Given the description of an element on the screen output the (x, y) to click on. 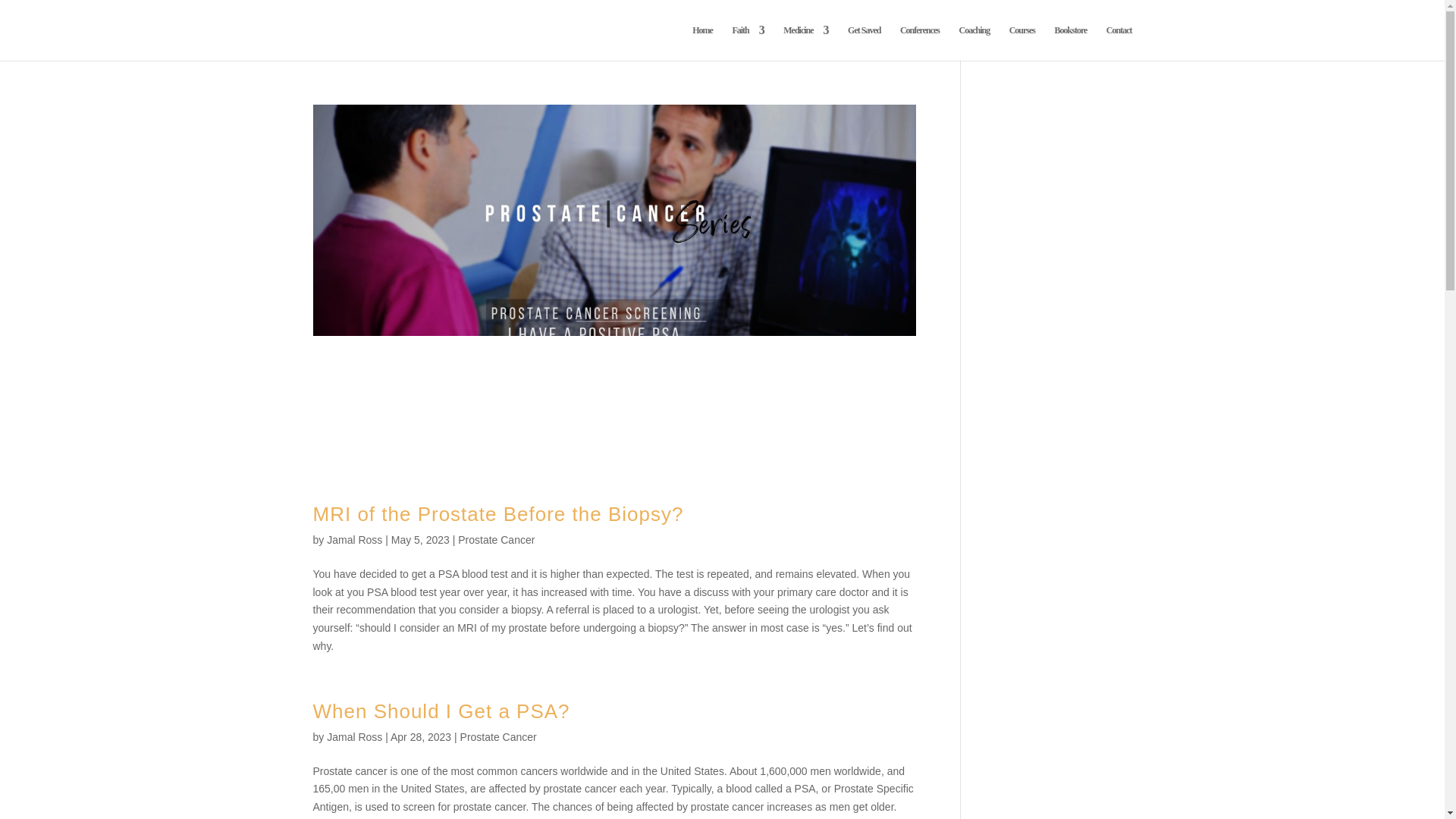
Faith (747, 42)
Posts by Jamal Ross (353, 539)
Jamal Ross (353, 539)
Jamal Ross (353, 736)
Posts by Jamal Ross (353, 736)
When Should I Get a PSA? (441, 711)
Prostate Cancer (498, 736)
Bookstore (1070, 42)
Conferences (919, 42)
MRI of the Prostate Before the Biopsy? (497, 513)
